Given the description of an element on the screen output the (x, y) to click on. 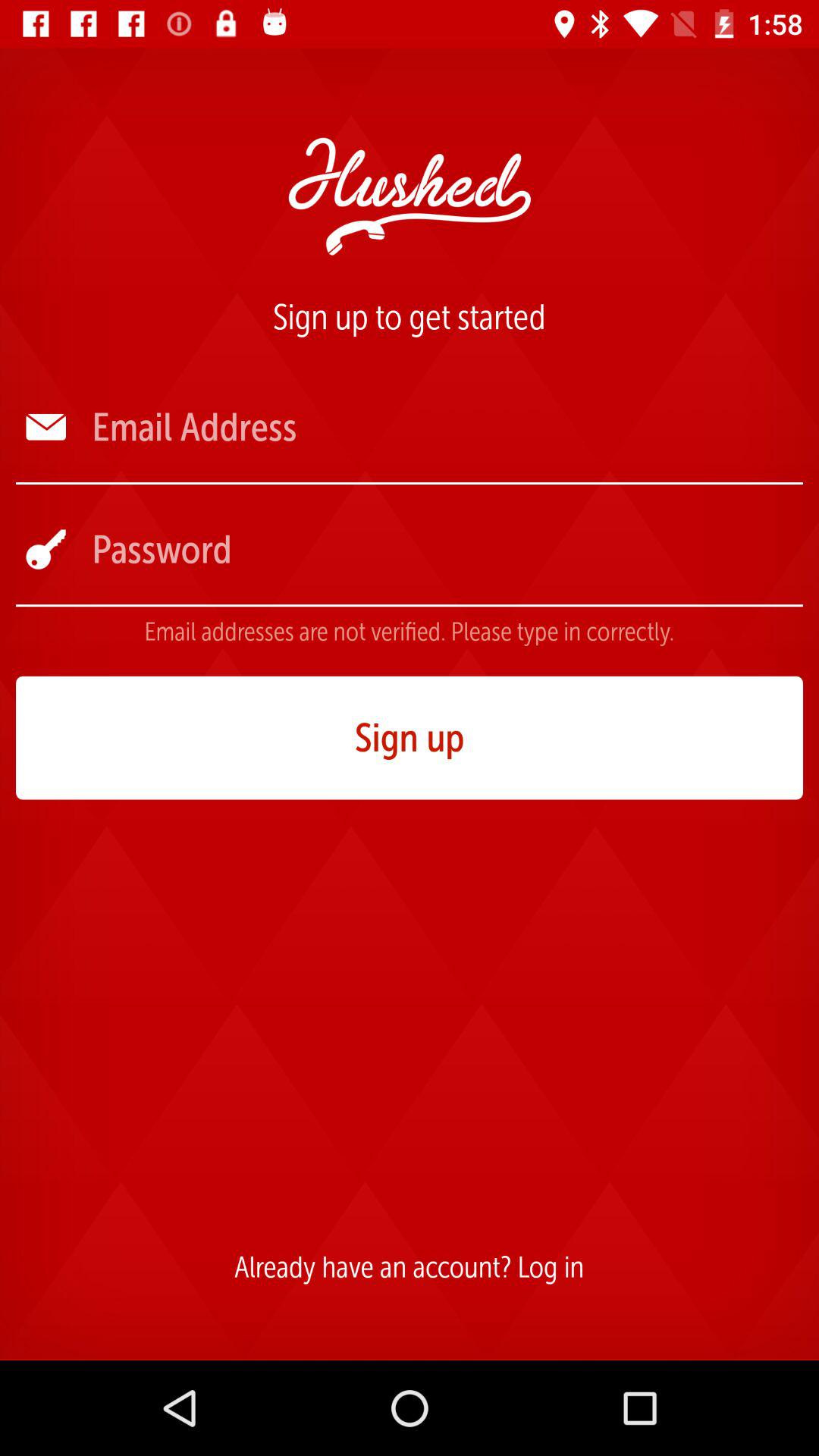
enter email address (446, 427)
